Given the description of an element on the screen output the (x, y) to click on. 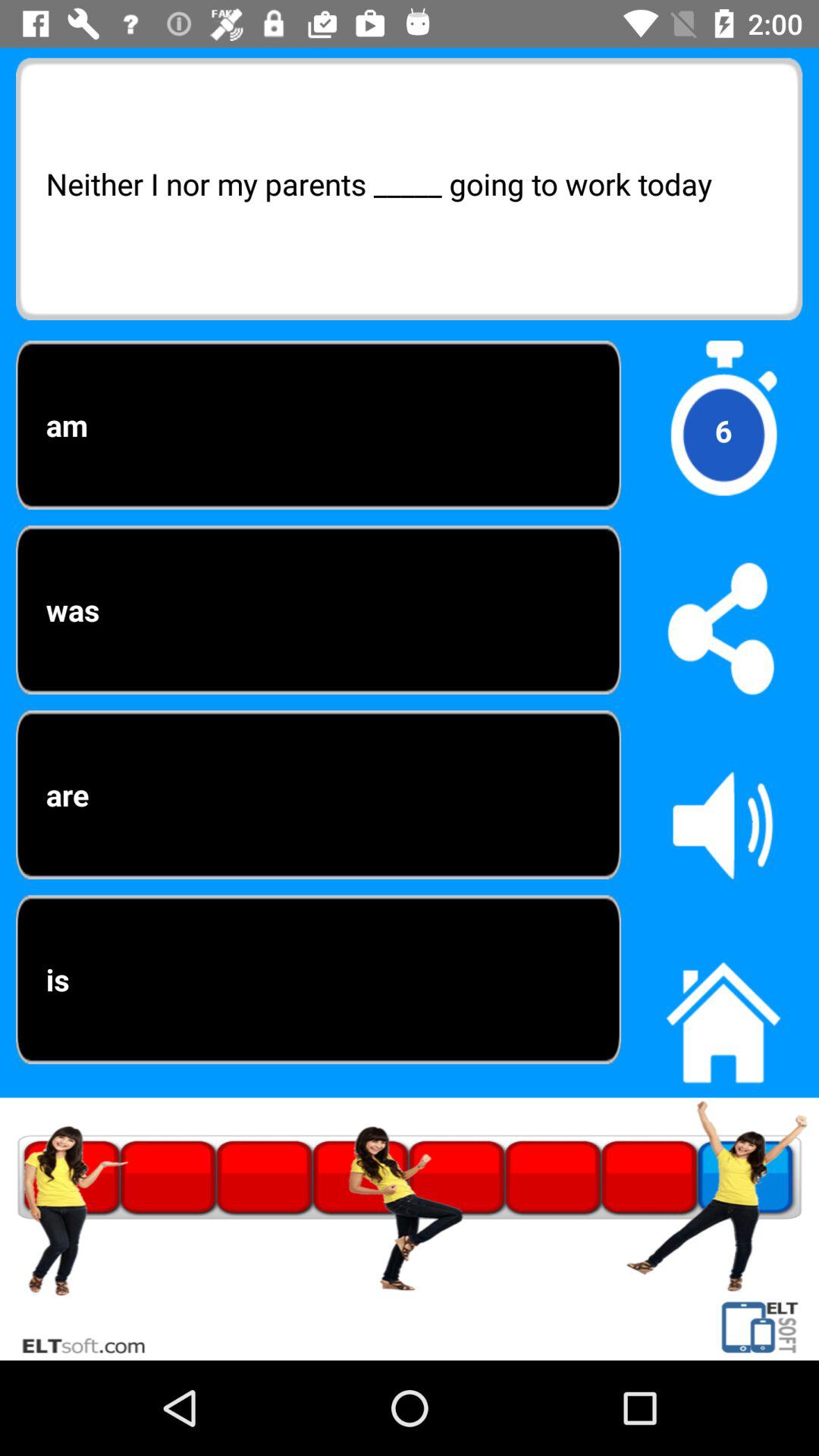
turn on item to the left of the 6 item (318, 609)
